Given the description of an element on the screen output the (x, y) to click on. 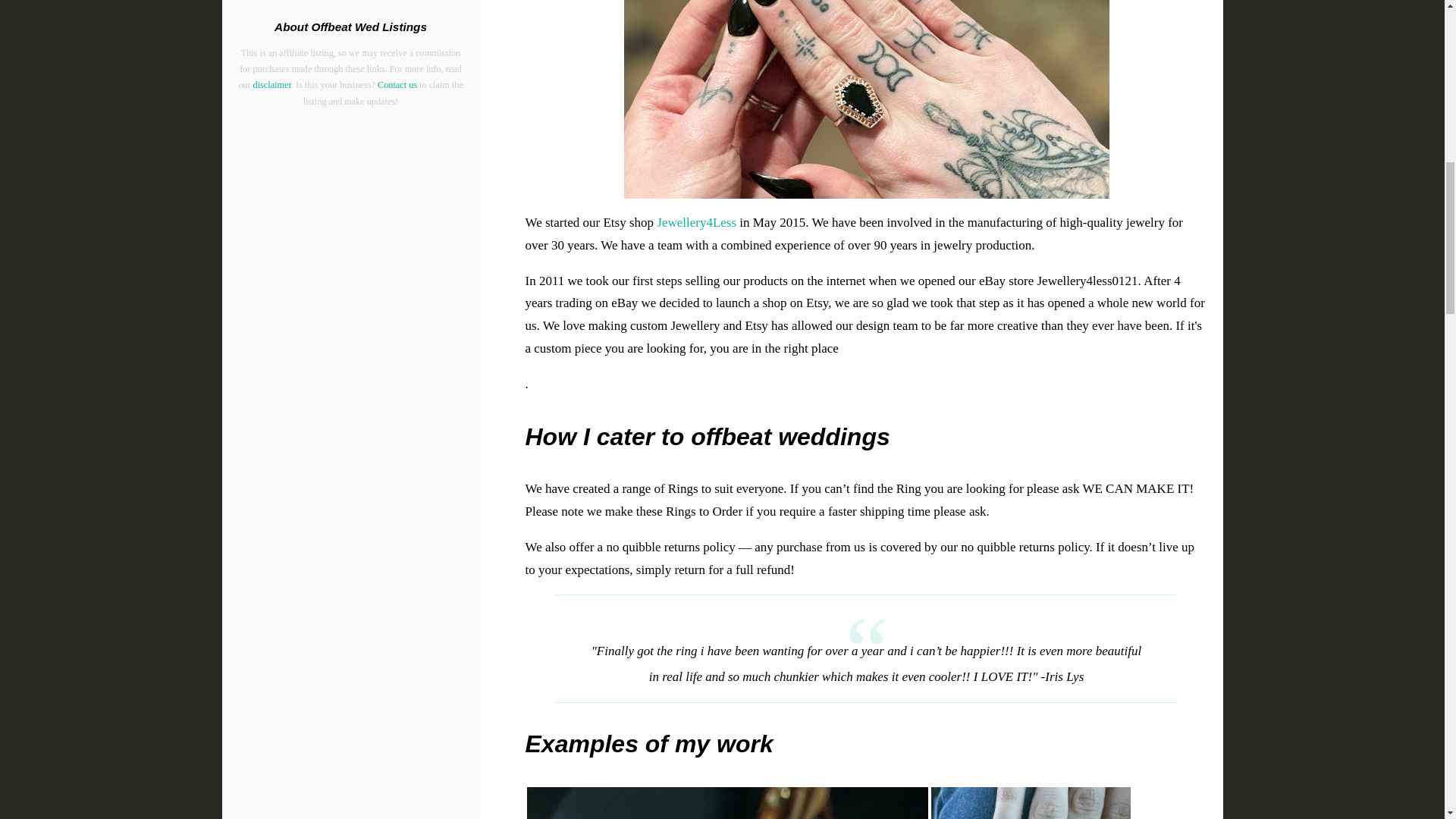
Jewellery4Less (696, 222)
Contact us (396, 84)
disclaimer (272, 84)
